Given the description of an element on the screen output the (x, y) to click on. 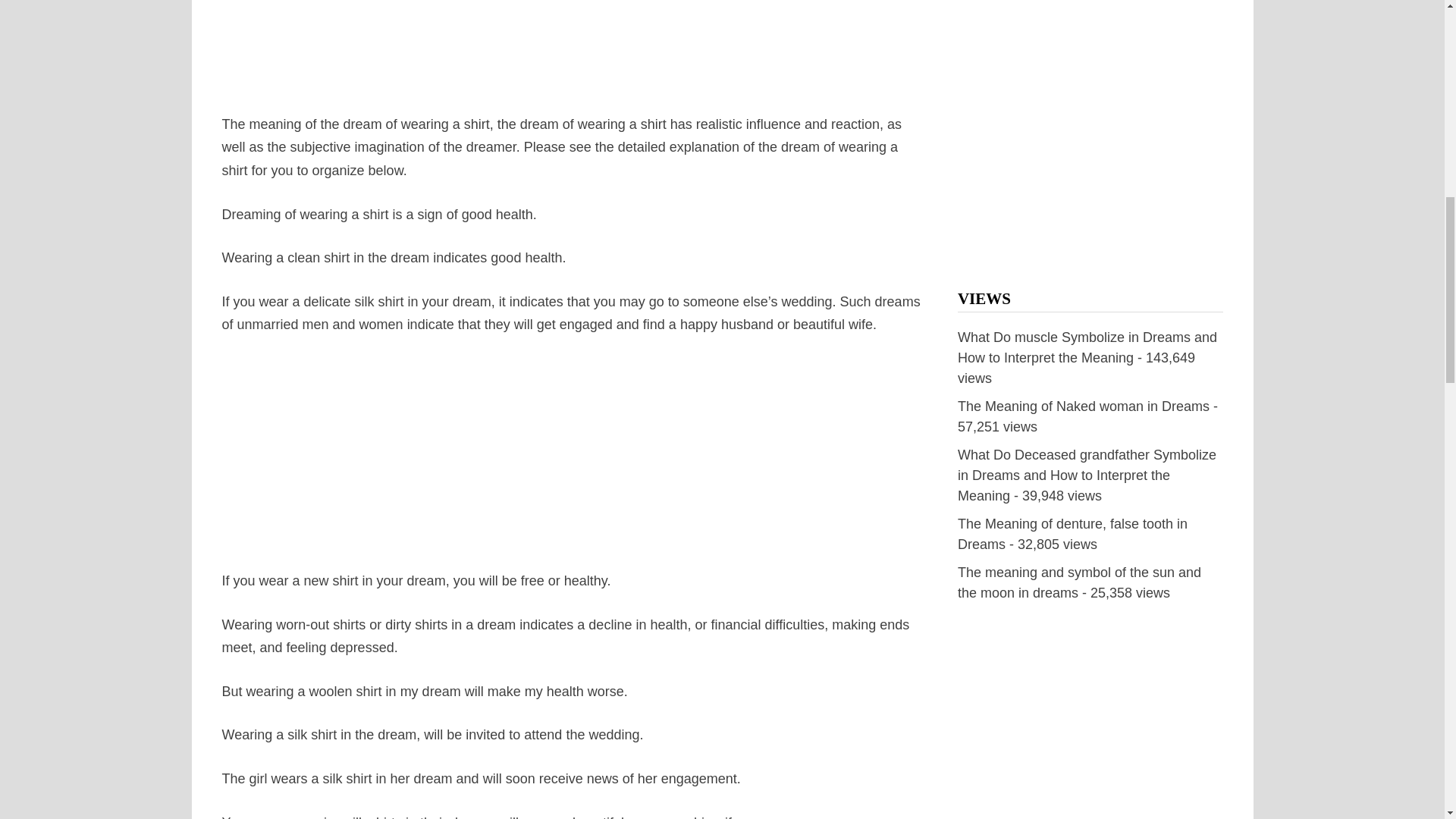
The Meaning of Naked woman in Dreams (1083, 406)
The meaning and symbol of the sun and the moon in dreams (1079, 582)
The Meaning of denture, false tooth in Dreams (1073, 534)
